Given the description of an element on the screen output the (x, y) to click on. 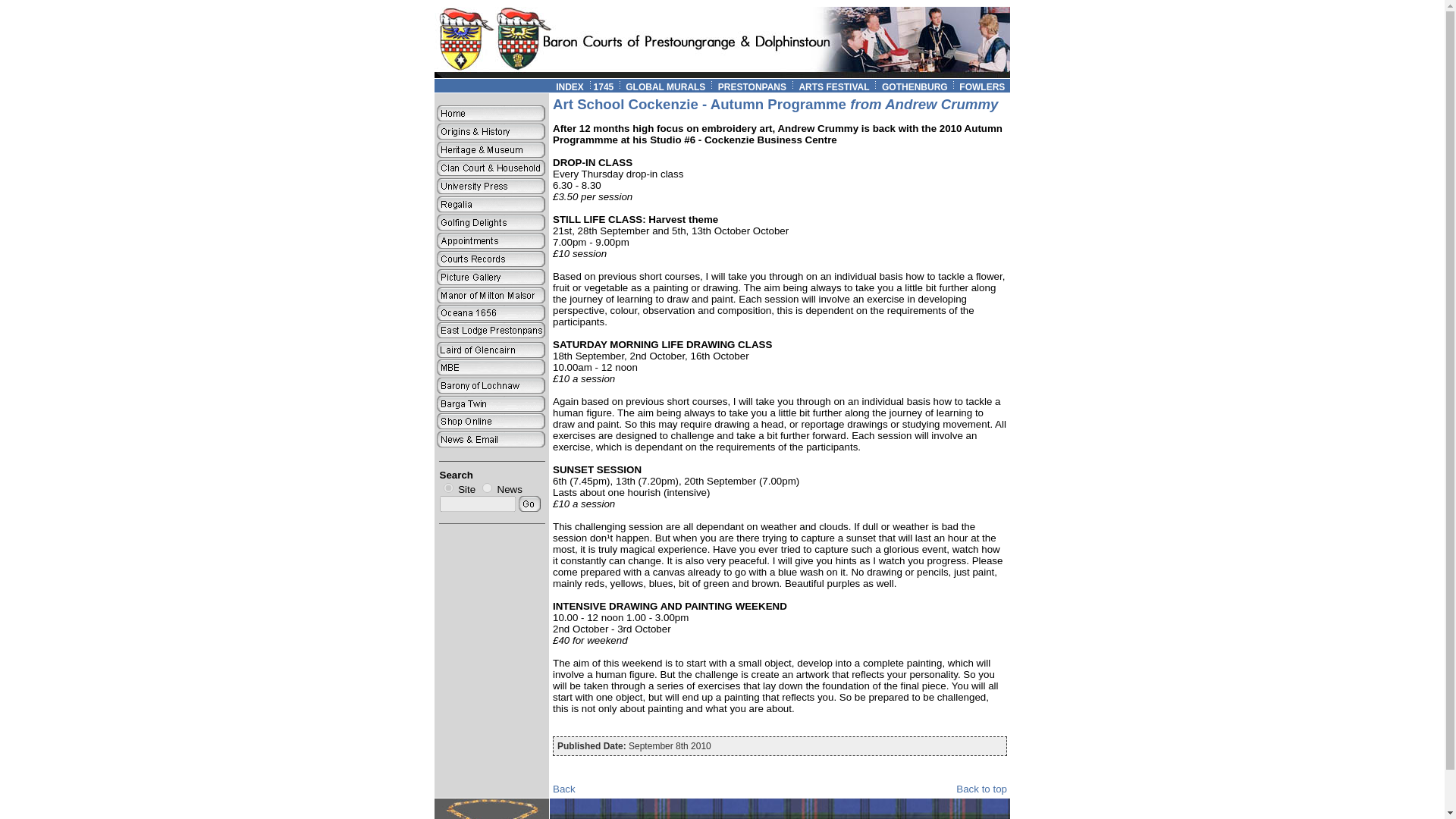
ARTS FESTIVAL (833, 86)
1745 (604, 86)
FOWLERS.. (984, 86)
GO (529, 503)
news (486, 488)
GOTHENBURG (920, 86)
INDEX (569, 86)
site (447, 488)
PRESTONPANS (751, 86)
Back (564, 788)
